Given the description of an element on the screen output the (x, y) to click on. 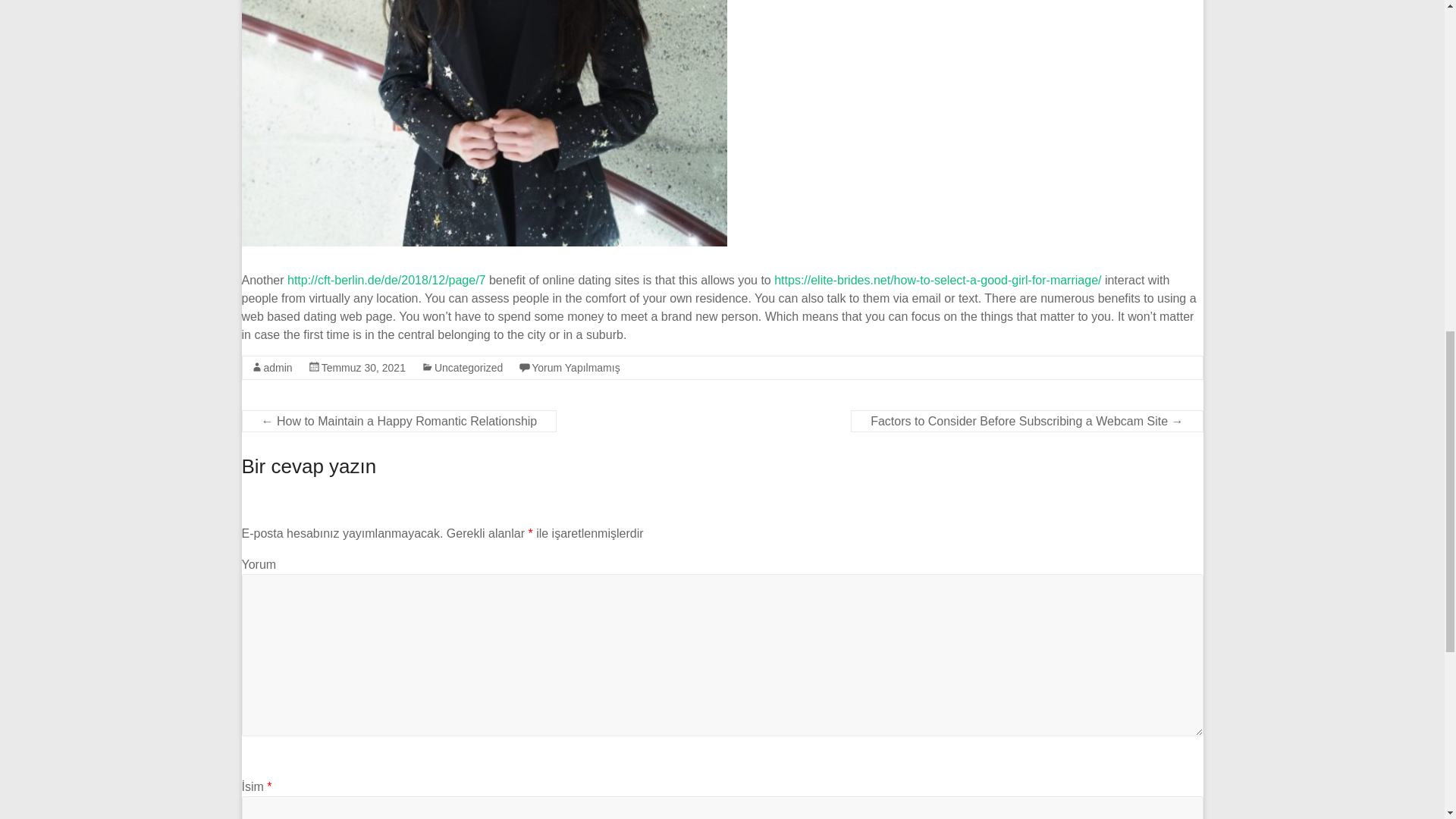
12:00 am (363, 367)
Uncategorized (467, 367)
admin (277, 367)
Temmuz 30, 2021 (363, 367)
